Given the description of an element on the screen output the (x, y) to click on. 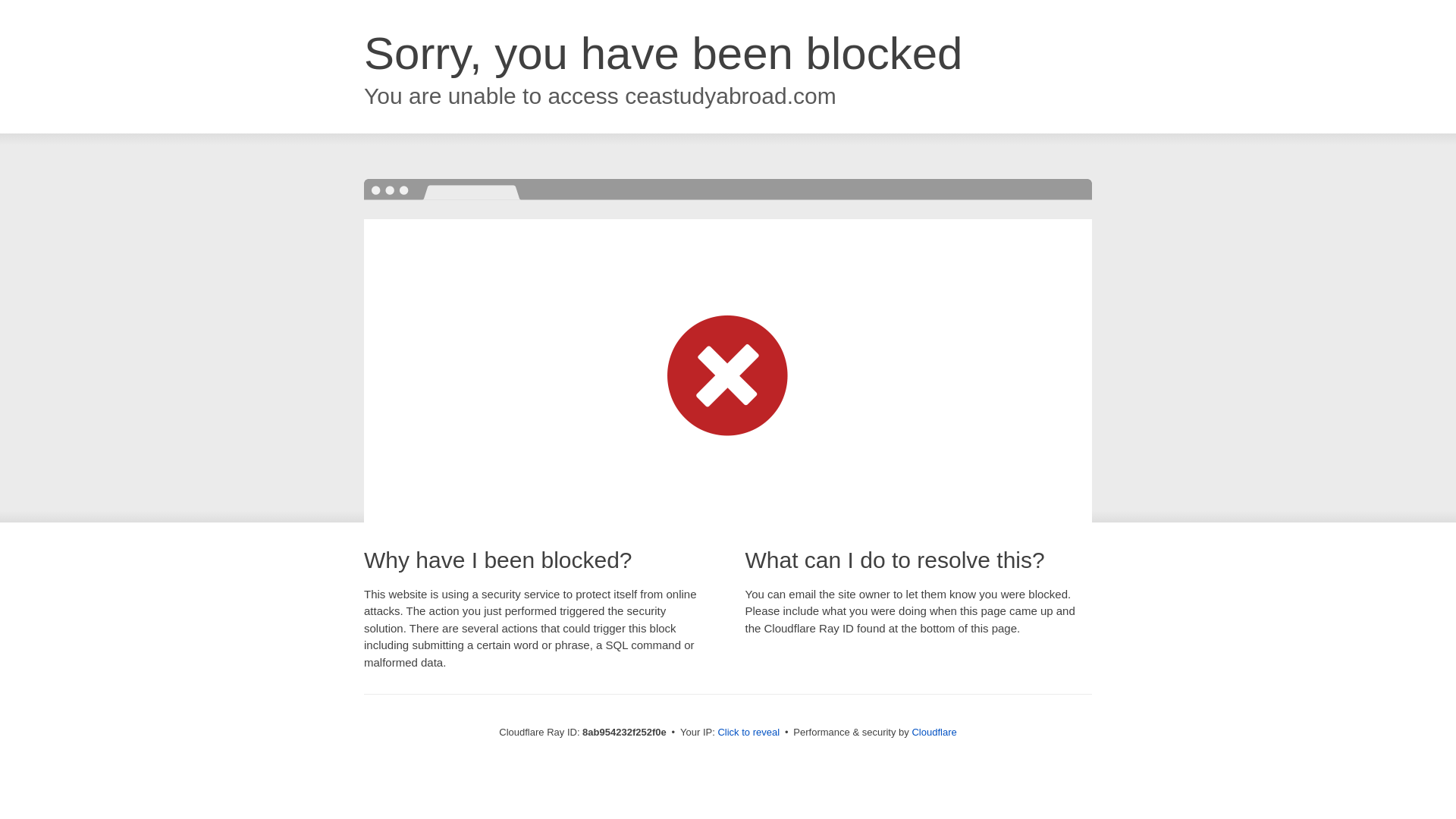
Click to reveal (747, 732)
Cloudflare (933, 731)
